Given the description of an element on the screen output the (x, y) to click on. 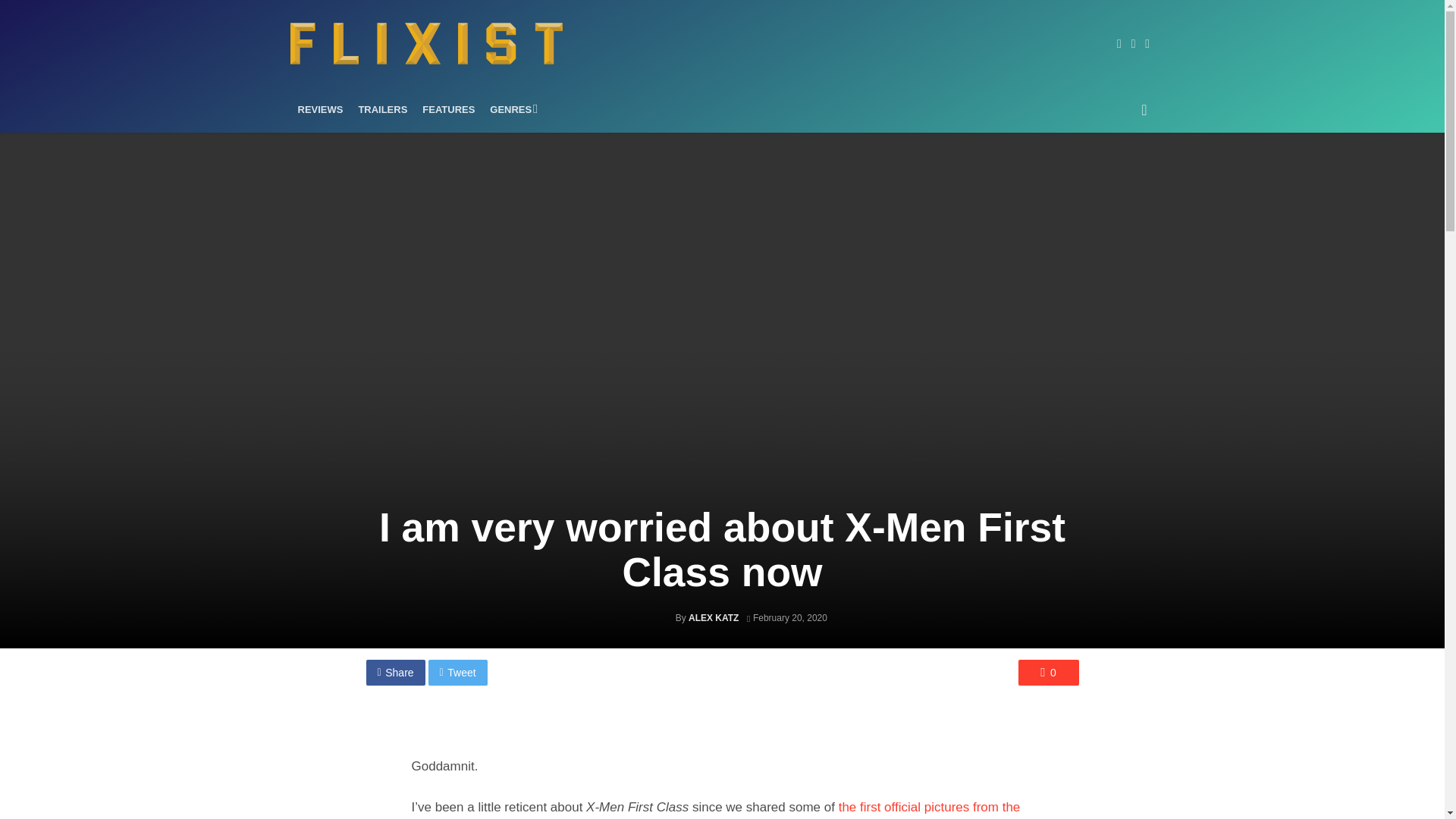
the first official pictures from the film (715, 809)
FEATURES (447, 109)
0 (1047, 672)
REVIEWS (319, 109)
February 20, 2020 at 12:42 pm (786, 617)
GENRES (511, 109)
ALEX KATZ (713, 617)
TRAILERS (382, 109)
Genres (511, 109)
Share (395, 672)
